Given the description of an element on the screen output the (x, y) to click on. 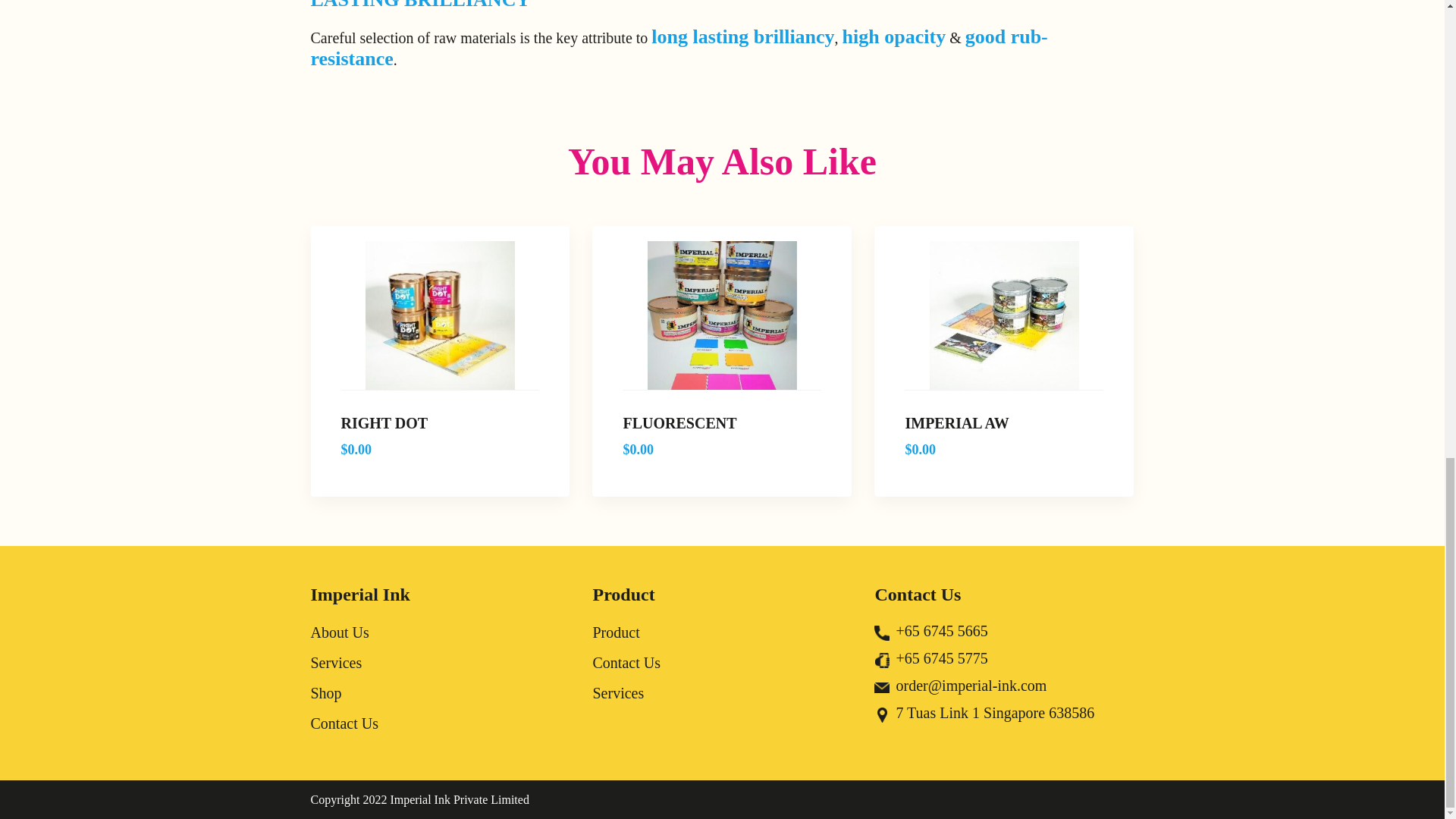
Services (336, 662)
About Us (340, 632)
Shop (326, 692)
